Given the description of an element on the screen output the (x, y) to click on. 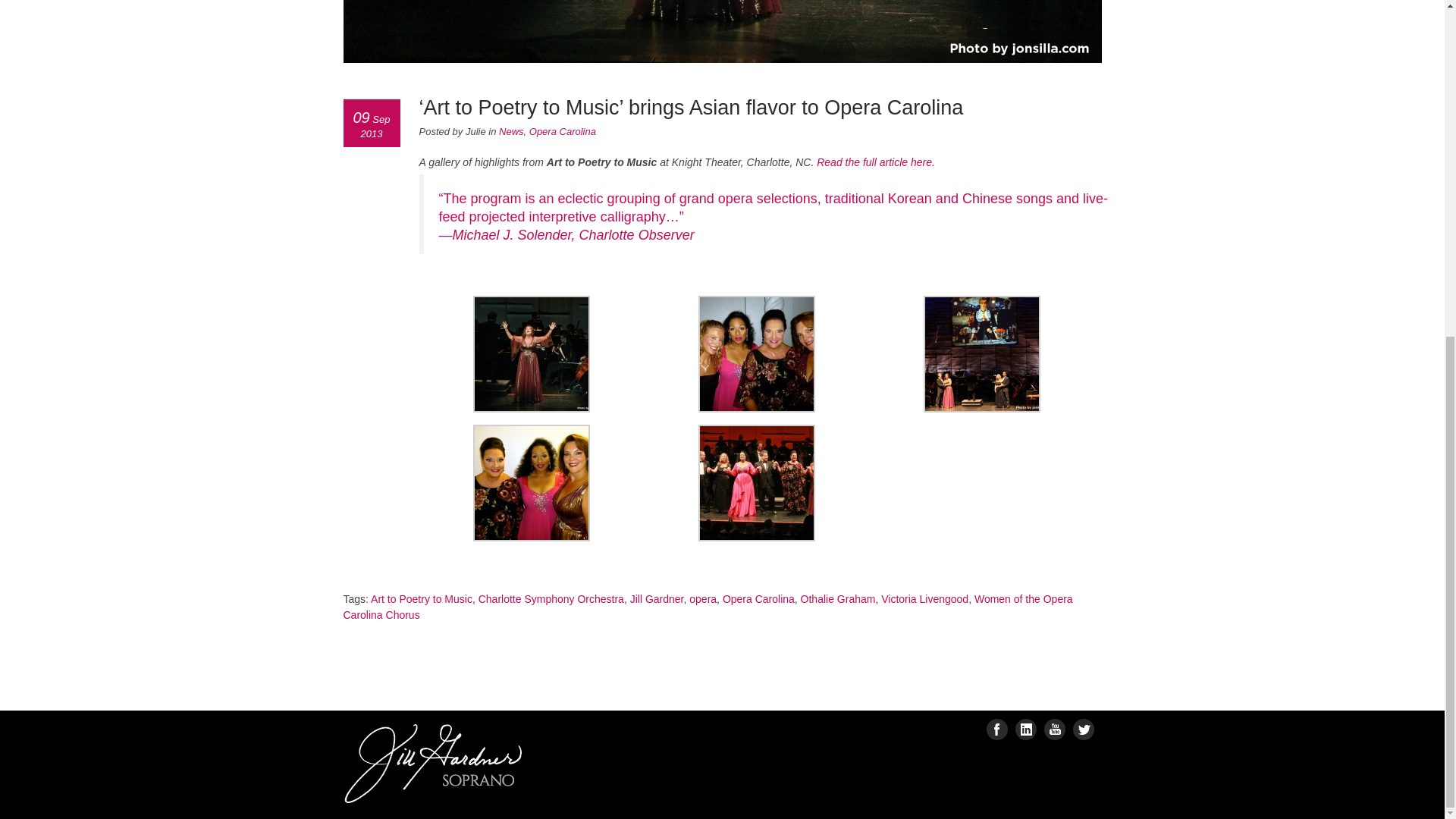
News (511, 131)
Opera Carolina (562, 131)
Opera Carolina-Art to Poetry to Music (875, 162)
Read the full article here. (875, 162)
